Given the description of an element on the screen output the (x, y) to click on. 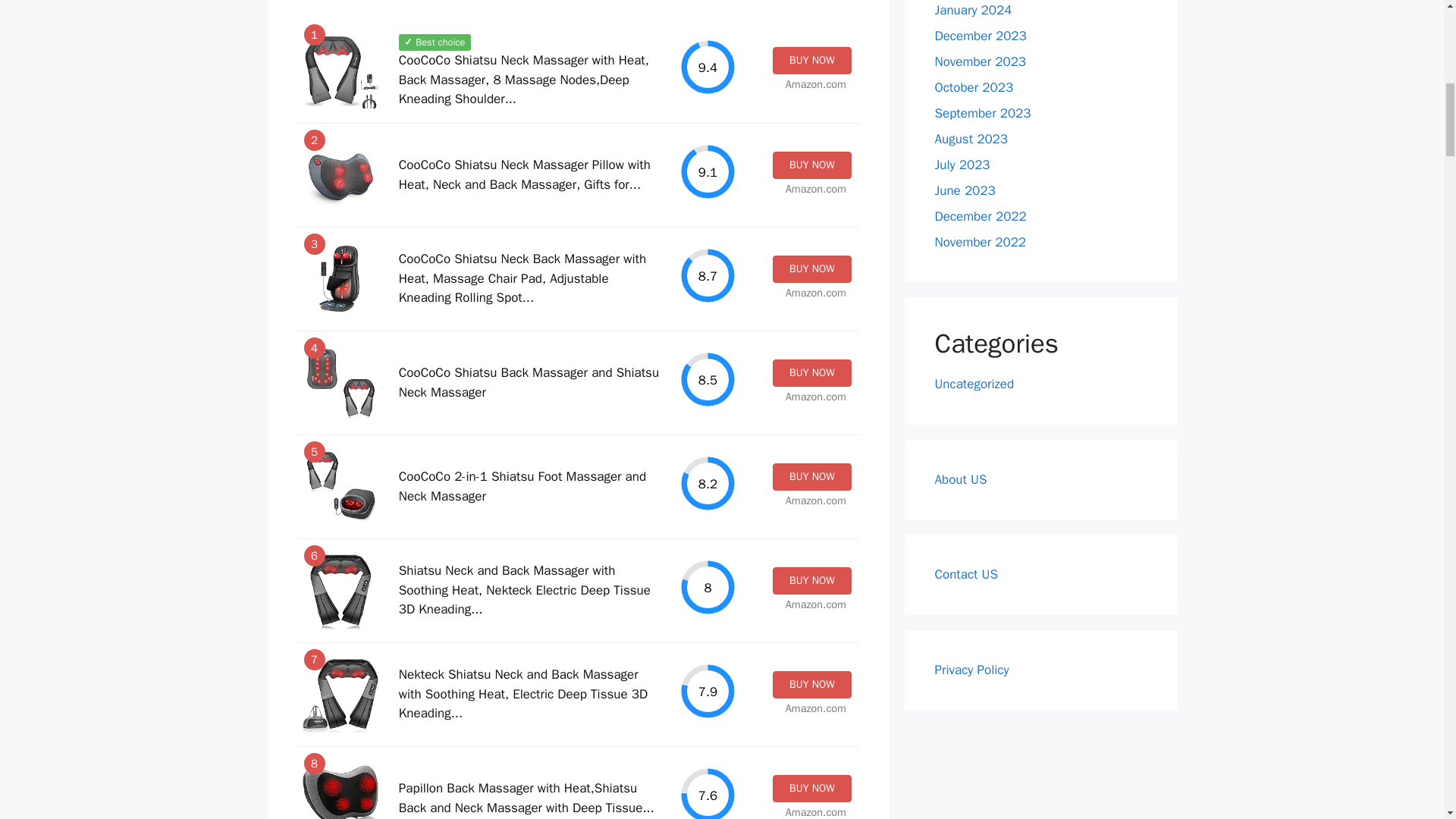
BUY NOW (811, 476)
BUY NOW (811, 165)
BUY NOW (811, 580)
BUY NOW (811, 268)
CooCoCo Shiatsu Back Massager and Shiatsu Neck Massager (528, 382)
BUY NOW (811, 684)
8.7 (707, 275)
9.1 (707, 171)
7.9 (707, 690)
8.5 (707, 379)
